Given the description of an element on the screen output the (x, y) to click on. 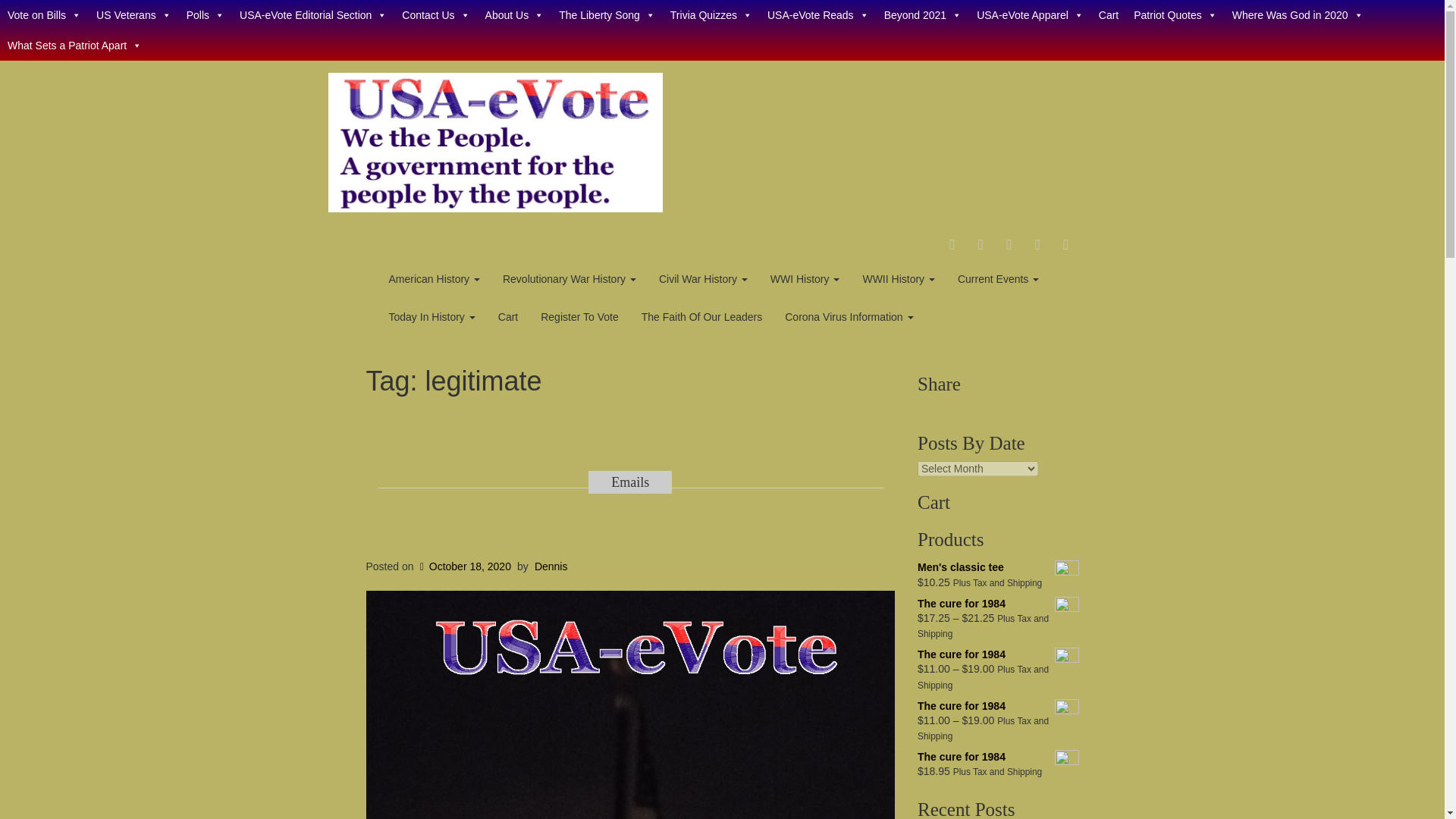
USA-eVote Apparel (1029, 15)
Polls (205, 15)
USA-eVote Editorial Section (312, 15)
US Veterans (133, 15)
Vote on Bills (44, 15)
